Given the description of an element on the screen output the (x, y) to click on. 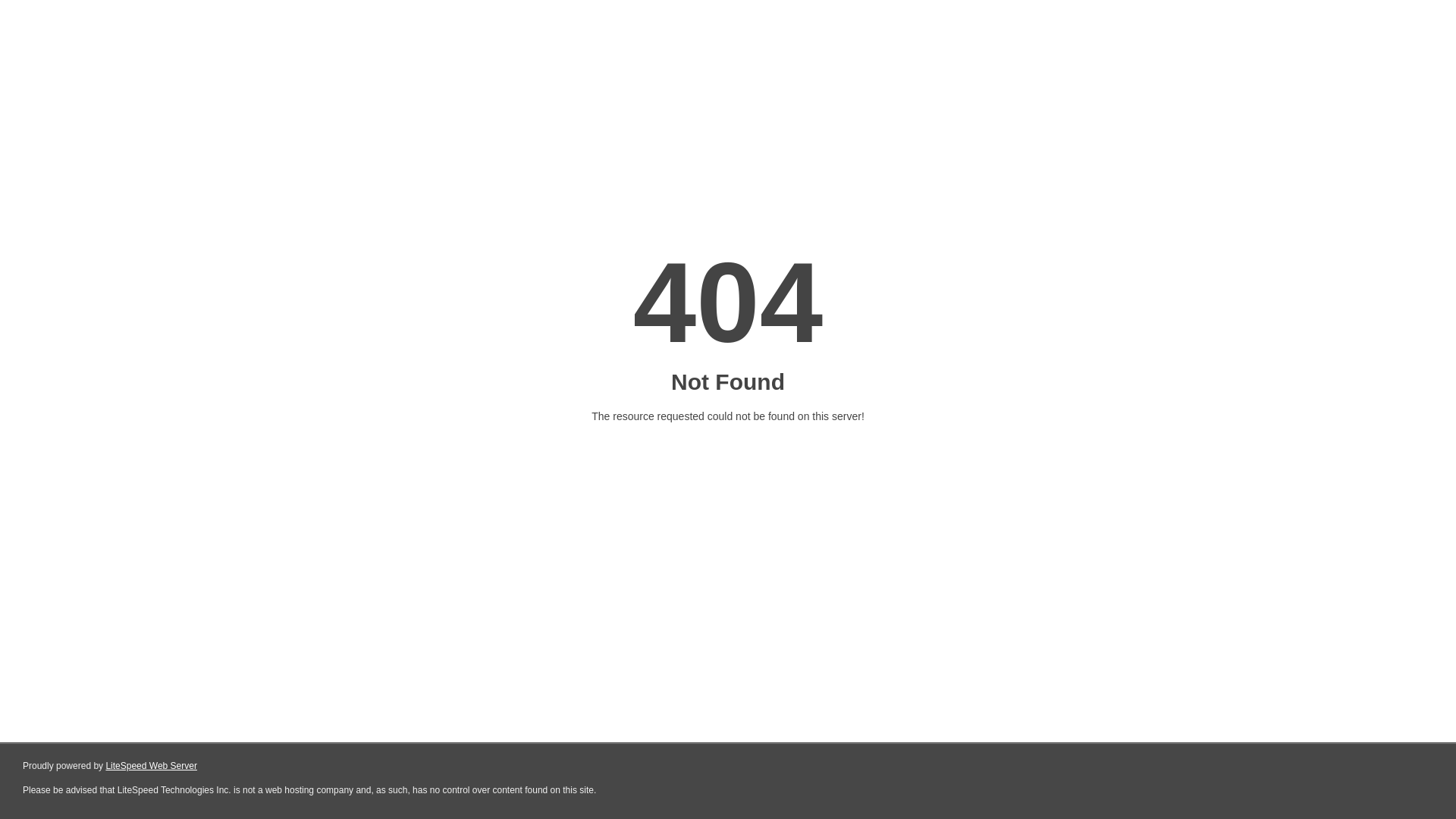
LiteSpeed Web Server Element type: text (151, 765)
